Given the description of an element on the screen output the (x, y) to click on. 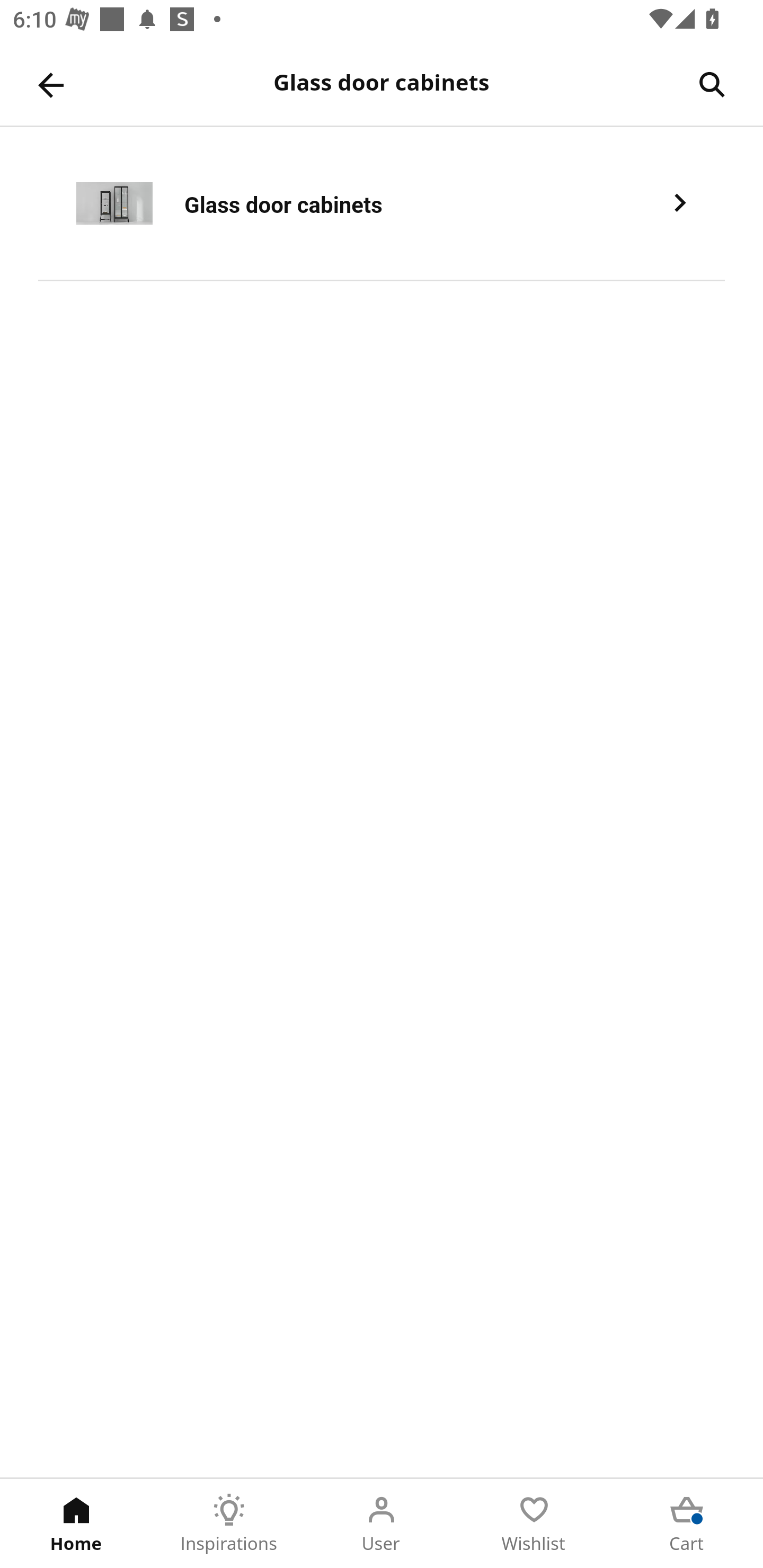
Glass door cabinets (381, 203)
Home
Tab 1 of 5 (76, 1522)
Inspirations
Tab 2 of 5 (228, 1522)
User
Tab 3 of 5 (381, 1522)
Wishlist
Tab 4 of 5 (533, 1522)
Cart
Tab 5 of 5 (686, 1522)
